Given the description of an element on the screen output the (x, y) to click on. 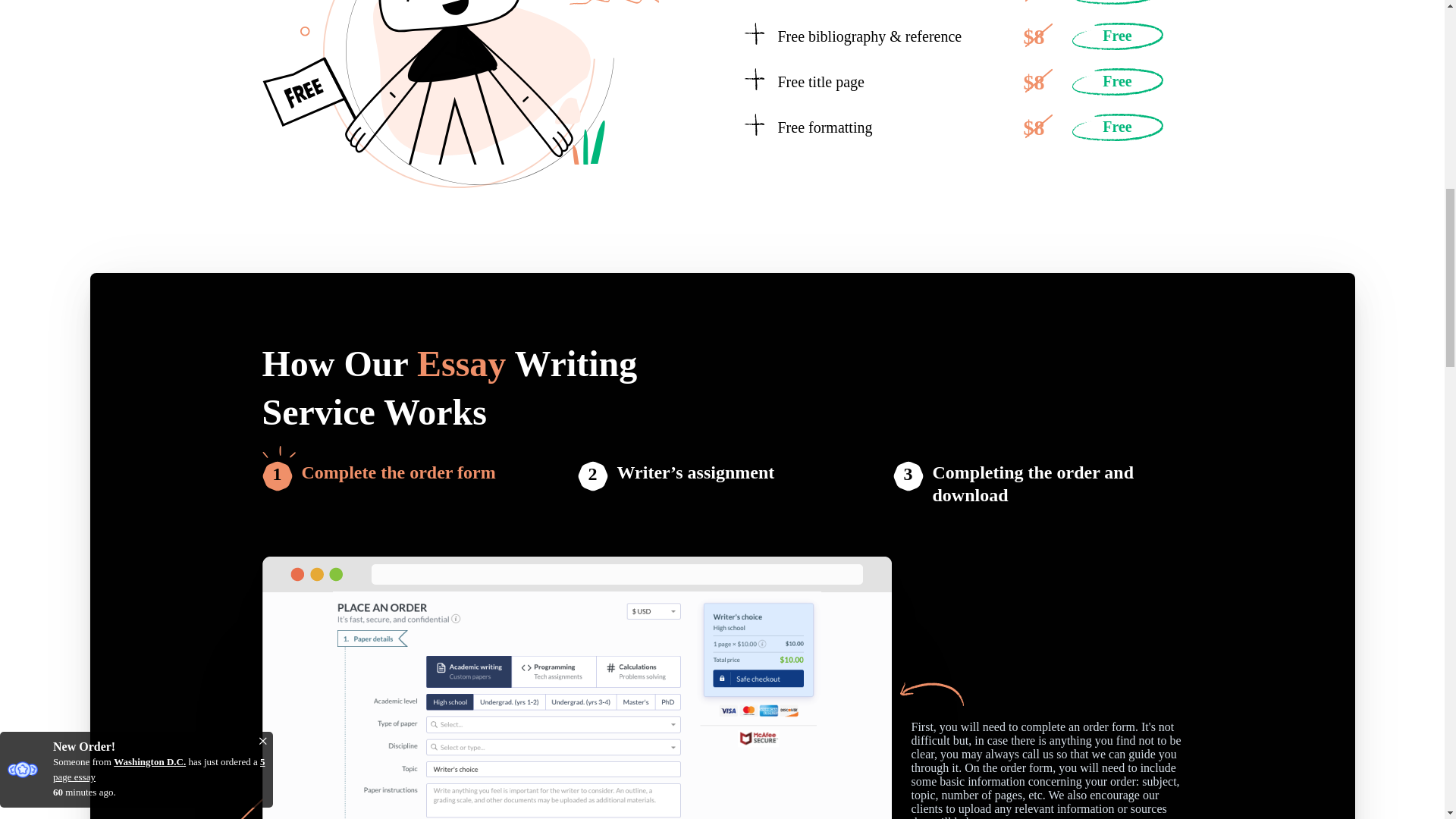
Completing the order and download (1057, 483)
Complete the order form (398, 483)
